Given the description of an element on the screen output the (x, y) to click on. 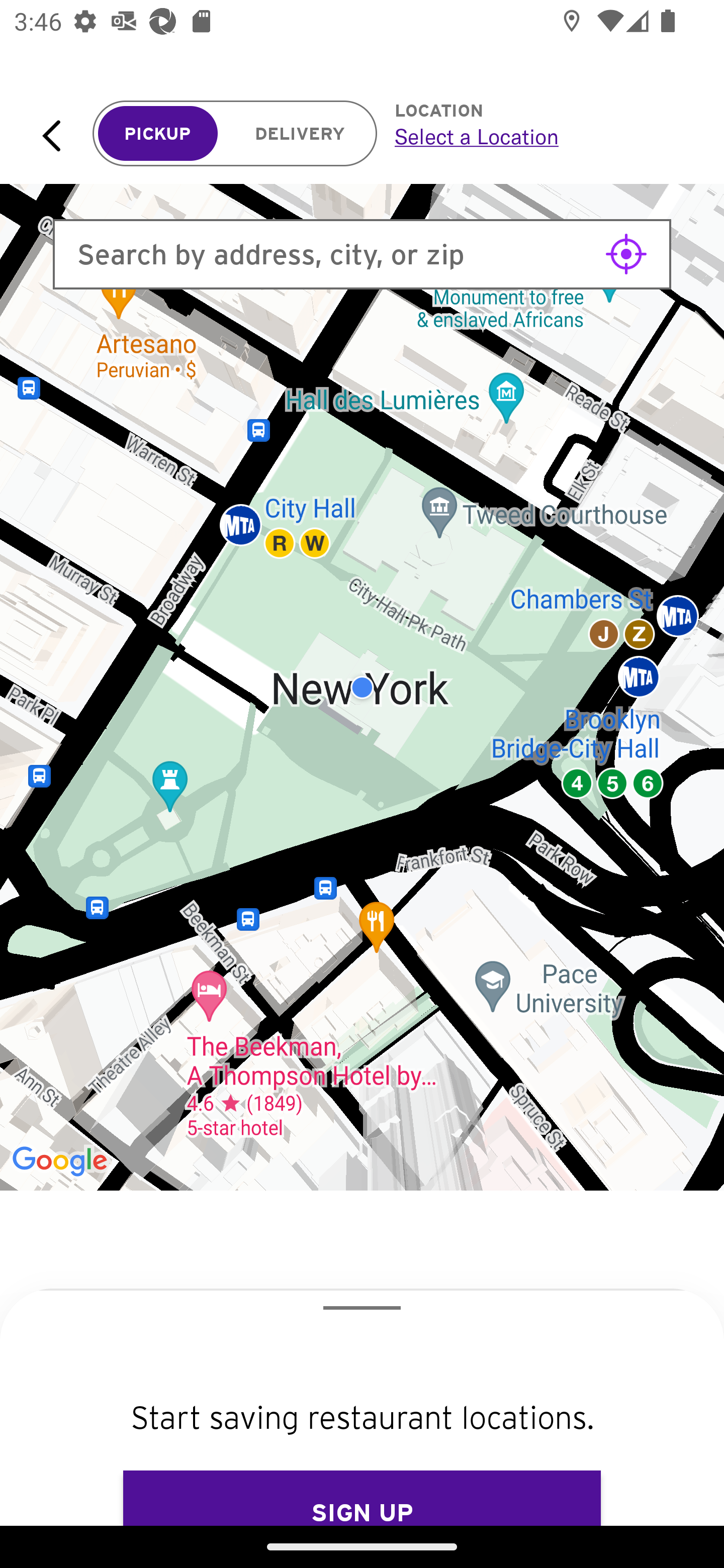
PICKUP (157, 133)
DELIVERY (299, 133)
Select a Location (536, 136)
Search by address, city, or zip (361, 254)
SIGN UP (361, 1497)
